Given the description of an element on the screen output the (x, y) to click on. 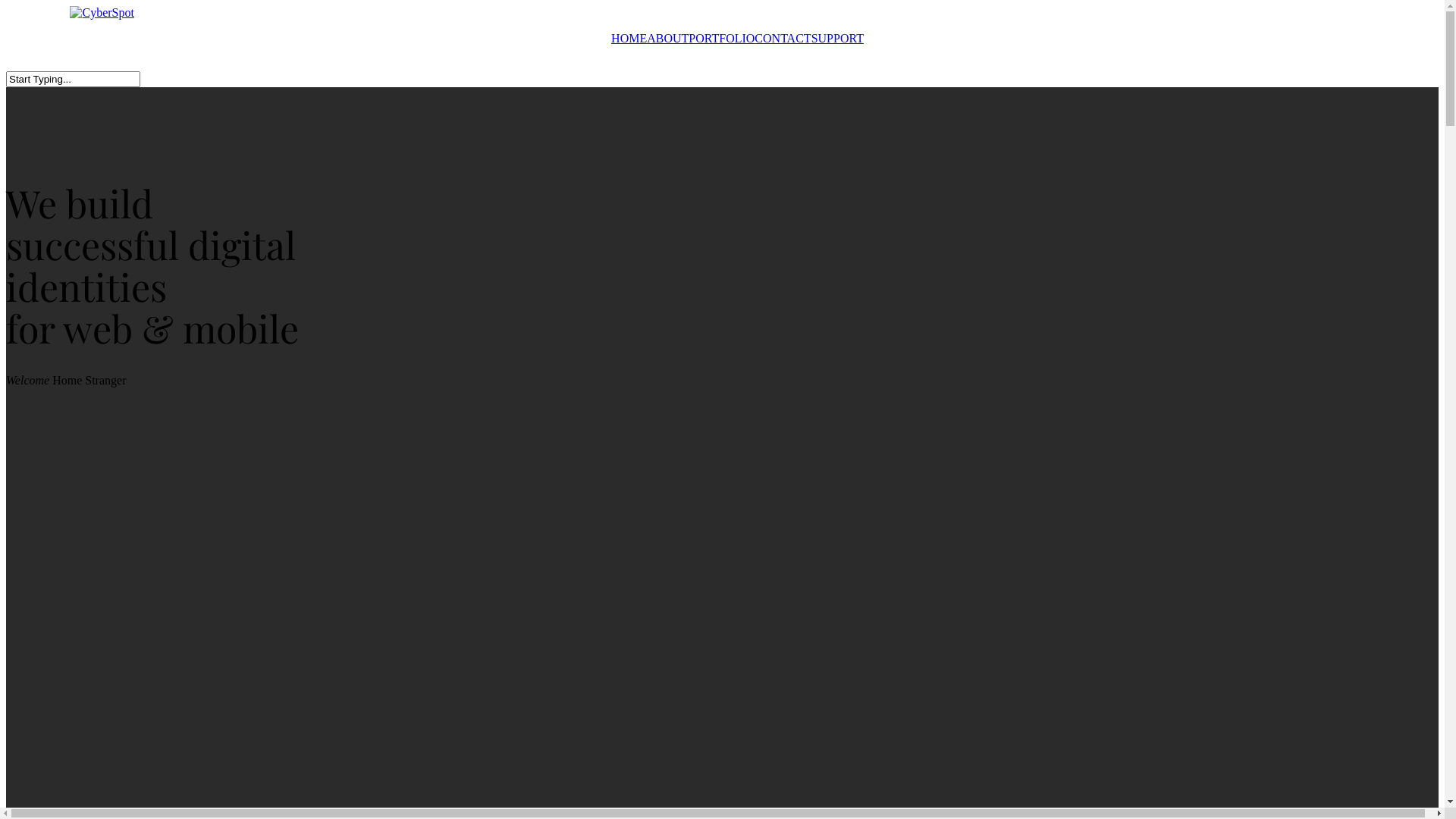
Skip to main content Element type: text (5, 5)
HOME Element type: text (628, 37)
CONTACT Element type: text (782, 37)
ABOUT Element type: text (667, 37)
PORTFOLIO Element type: text (721, 37)
SUPPORT Element type: text (837, 37)
